Given the description of an element on the screen output the (x, y) to click on. 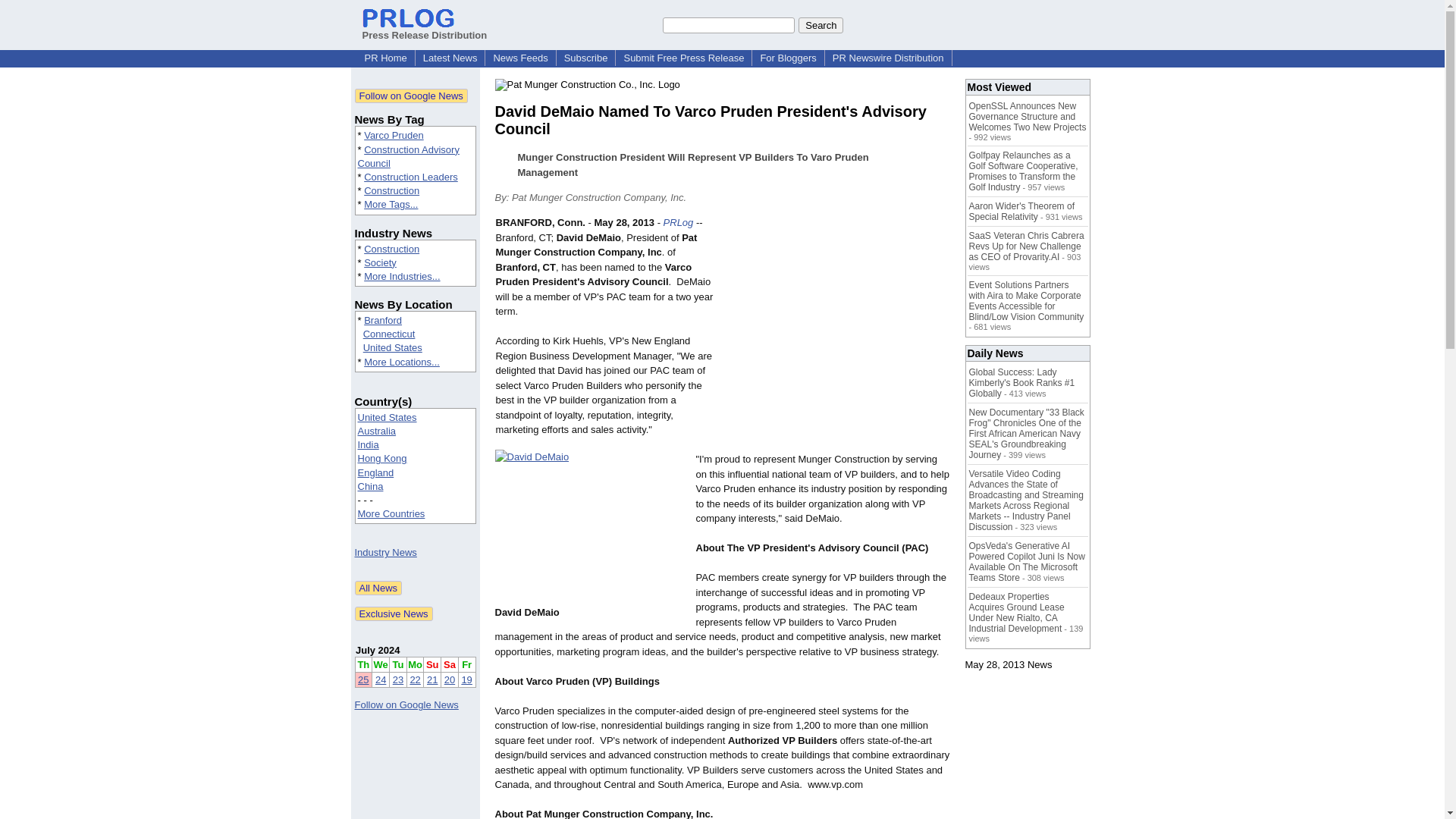
Industry News (385, 552)
India (368, 444)
Exclusive News (393, 613)
Follow on Google News (411, 95)
21 (432, 679)
Submit Free Press Release (683, 57)
24 (380, 679)
25 (363, 679)
July 2024 (377, 650)
Branford (382, 319)
More Locations... (401, 361)
All News (379, 587)
More Countries (391, 513)
Construction Advisory Council (409, 156)
Search (820, 24)
